Given the description of an element on the screen output the (x, y) to click on. 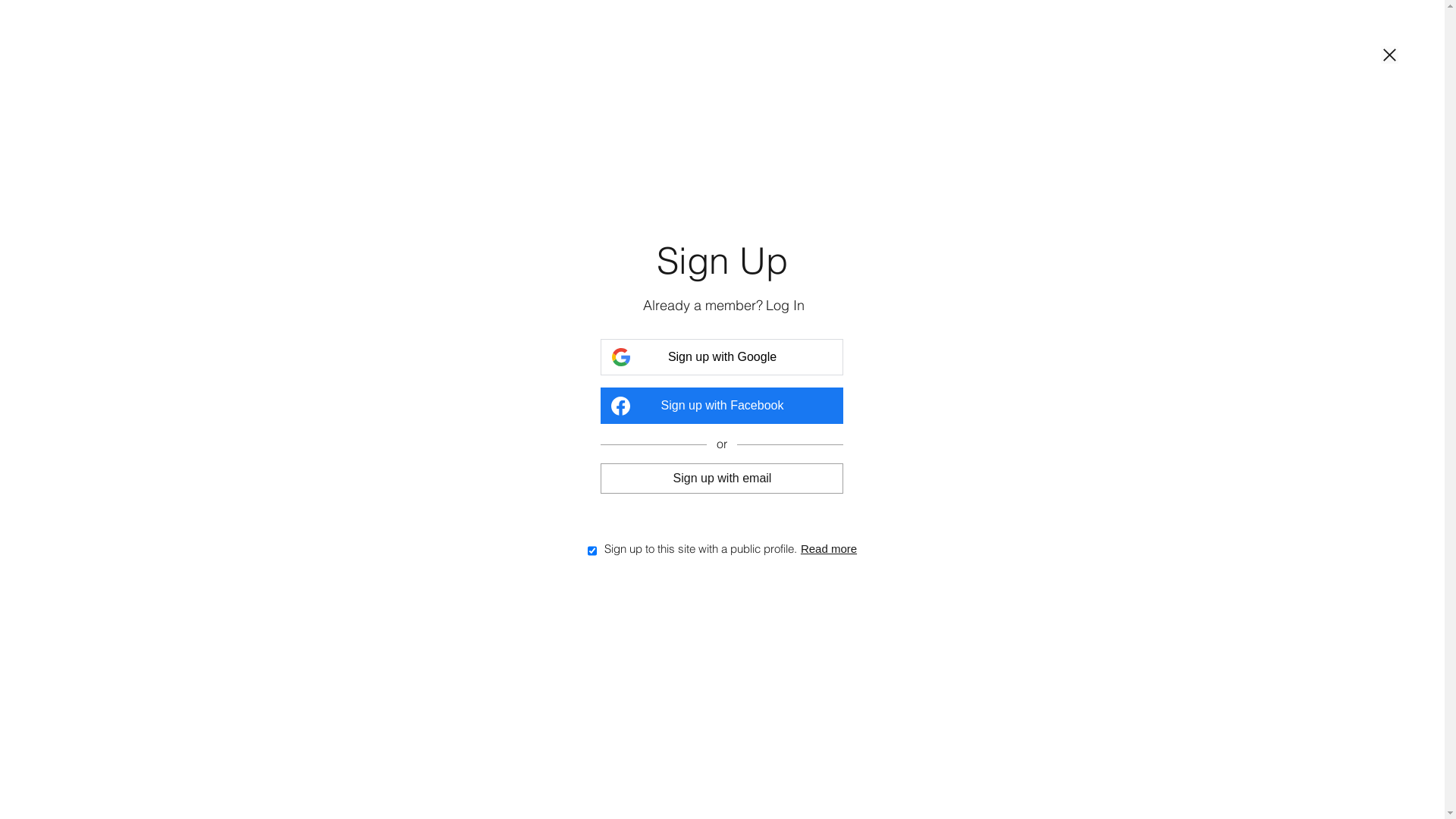
Sign up with Facebook Element type: text (721, 404)
Read more Element type: text (828, 547)
Sign up with email Element type: text (721, 477)
Sign up with Google Element type: text (721, 356)
Log In Element type: text (784, 305)
